Given the description of an element on the screen output the (x, y) to click on. 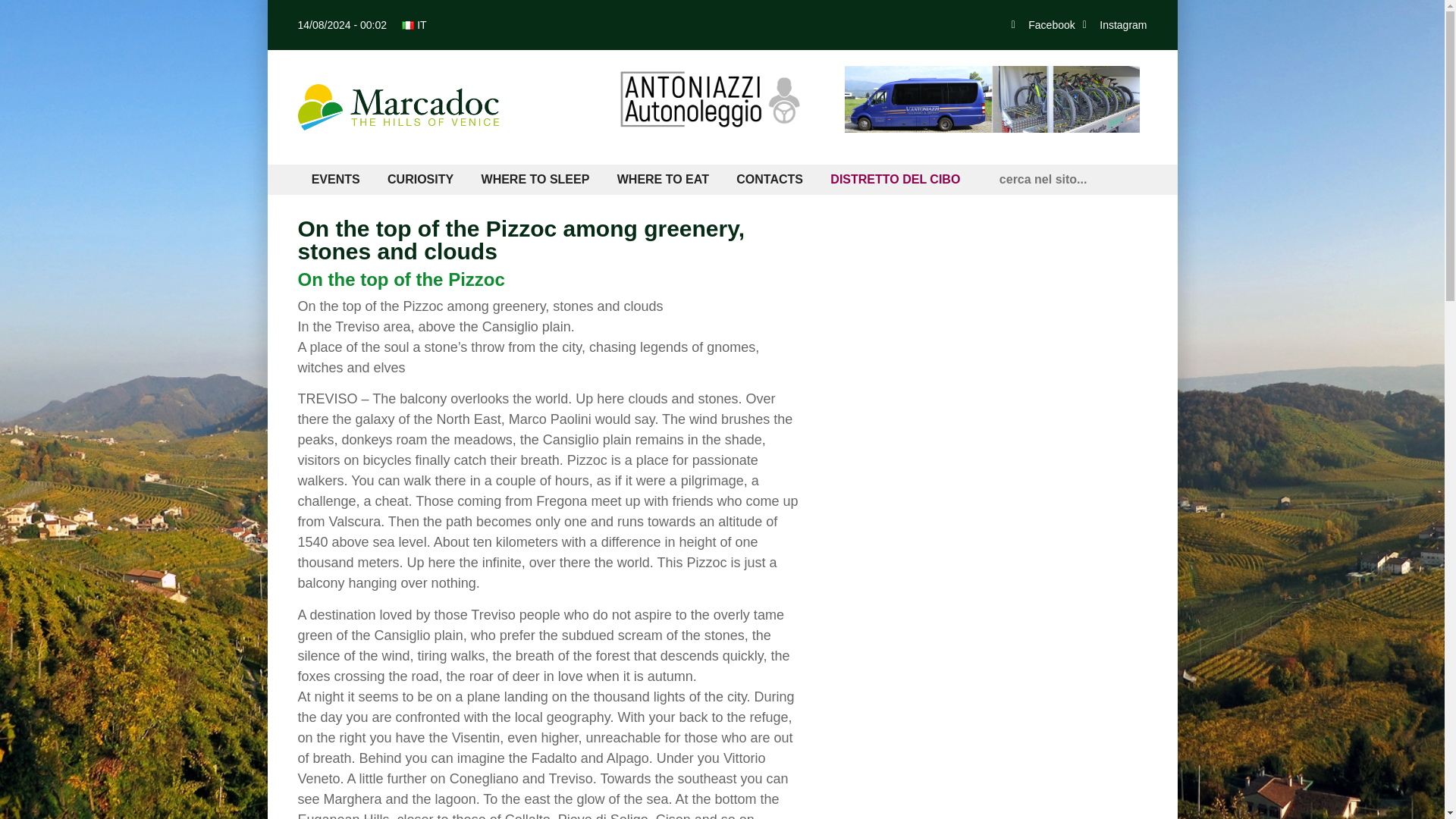
IT (414, 24)
WHERE TO SLEEP (534, 179)
WHERE TO EAT (663, 179)
EVENTS (334, 179)
CURIOSITY (420, 179)
CONTACTS (769, 179)
